Given the description of an element on the screen output the (x, y) to click on. 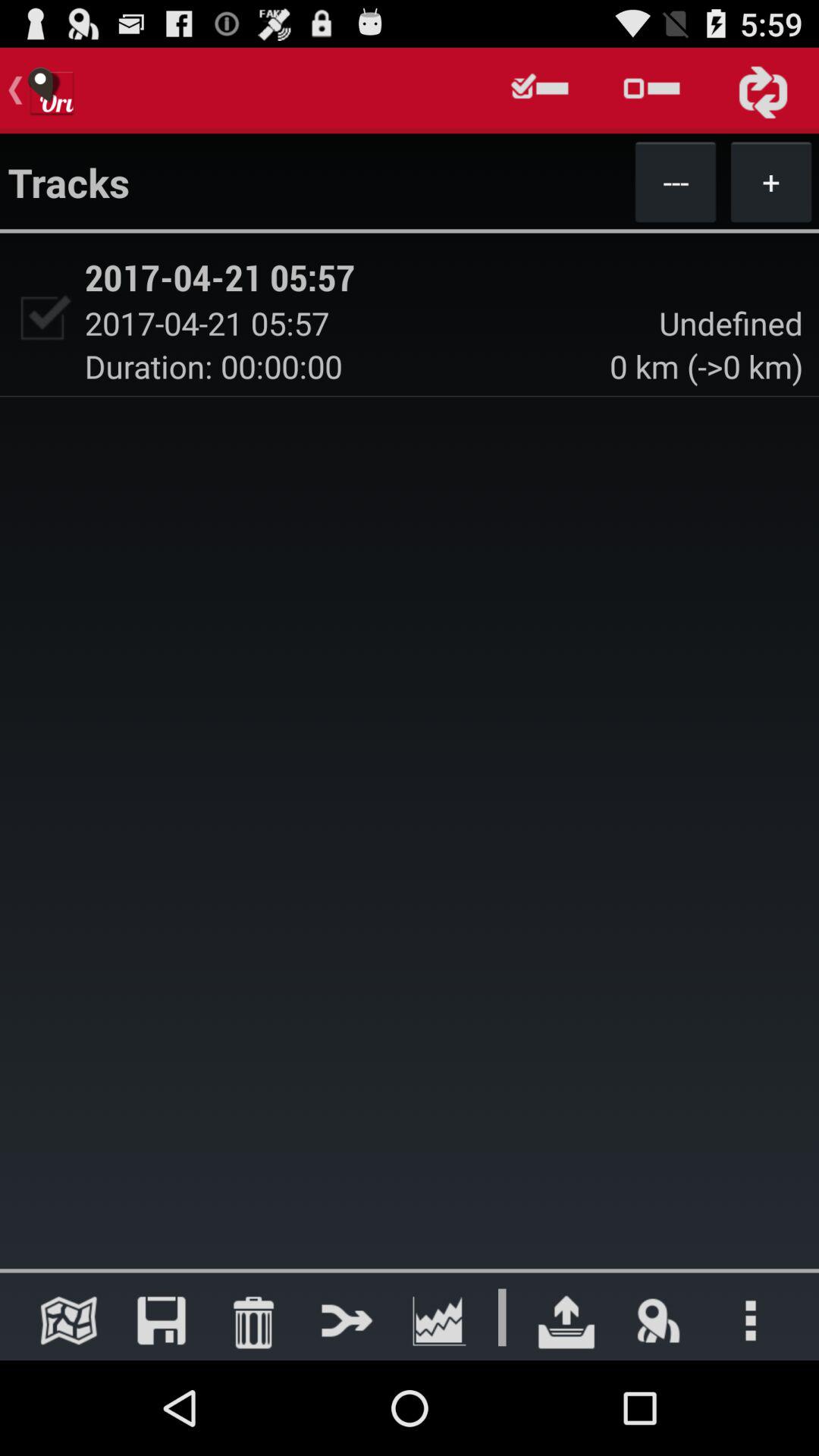
upload (566, 1320)
